Given the description of an element on the screen output the (x, y) to click on. 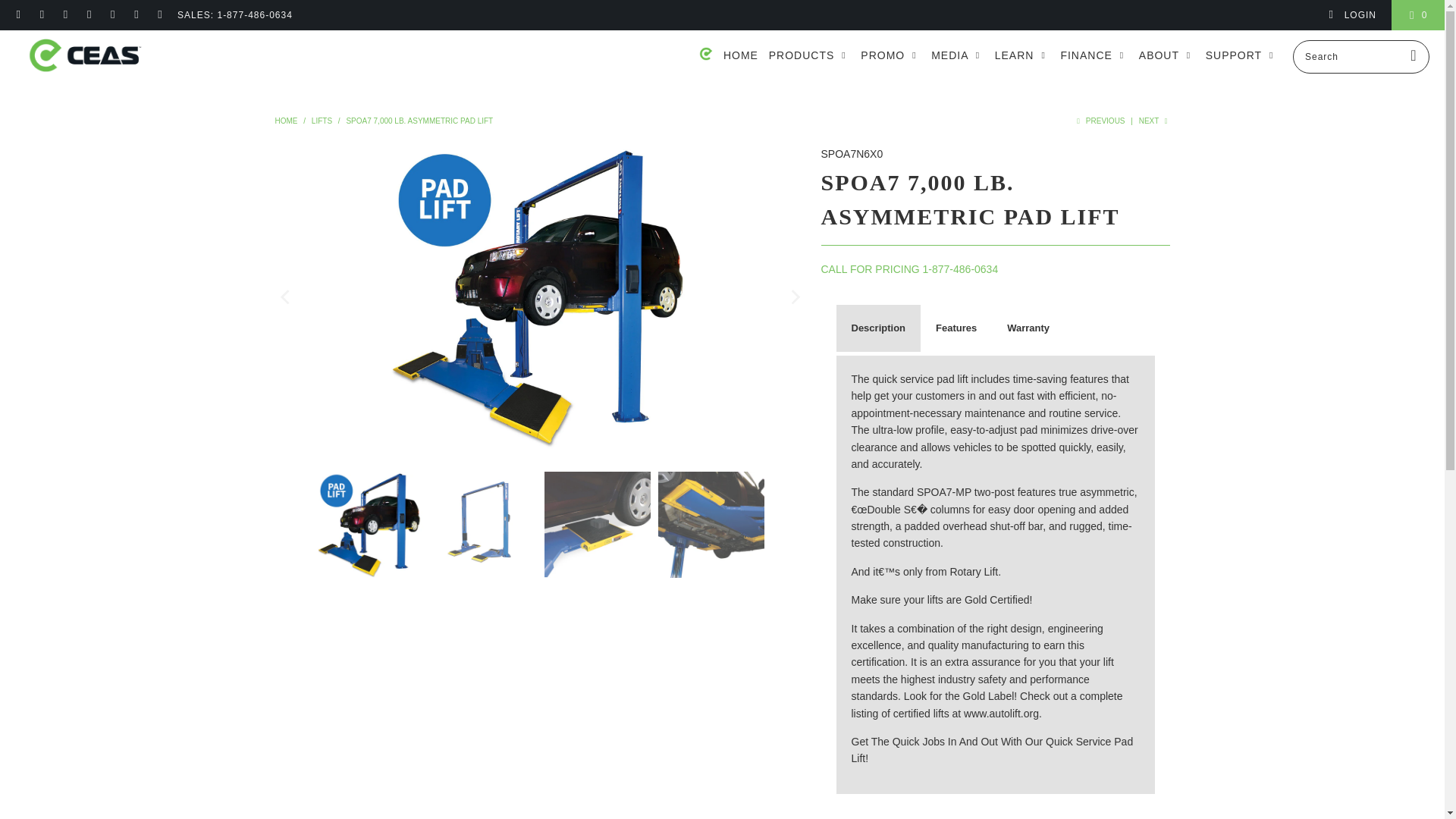
Cutting Edge Automotive Solutions on LinkedIn (135, 14)
Cutting Edge Automotive Solutions on Facebook (41, 14)
Email Cutting Edge Automotive Solutions (158, 14)
Cutting Edge Automotive Solutions on Pinterest (87, 14)
Cutting Edge Automotive Solutions on YouTube (64, 14)
My Account  (1351, 15)
Previous (1099, 121)
Cutting Edge Automotive Solutions on Instagram (112, 14)
Next (1154, 121)
Lifts (321, 121)
Cutting Edge Automotive Solutions (84, 56)
Cutting Edge Automotive Solutions on Twitter (17, 14)
Cutting Edge Automotive Solutions (286, 121)
